Given the description of an element on the screen output the (x, y) to click on. 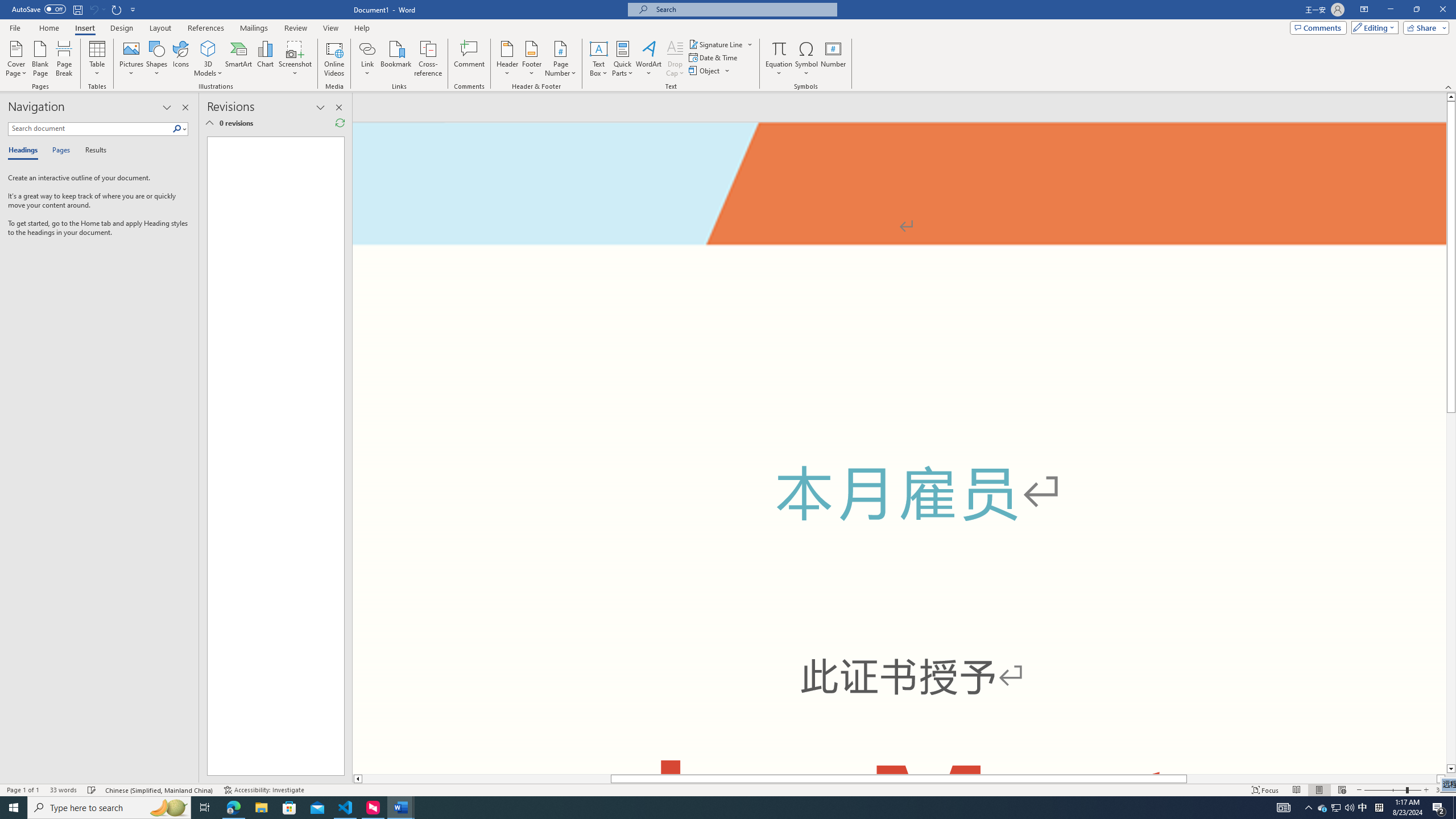
Signature Line (716, 44)
Equation (778, 48)
Pages (59, 150)
Page Number (560, 58)
Chart... (265, 58)
Can't Undo (92, 9)
